Given the description of an element on the screen output the (x, y) to click on. 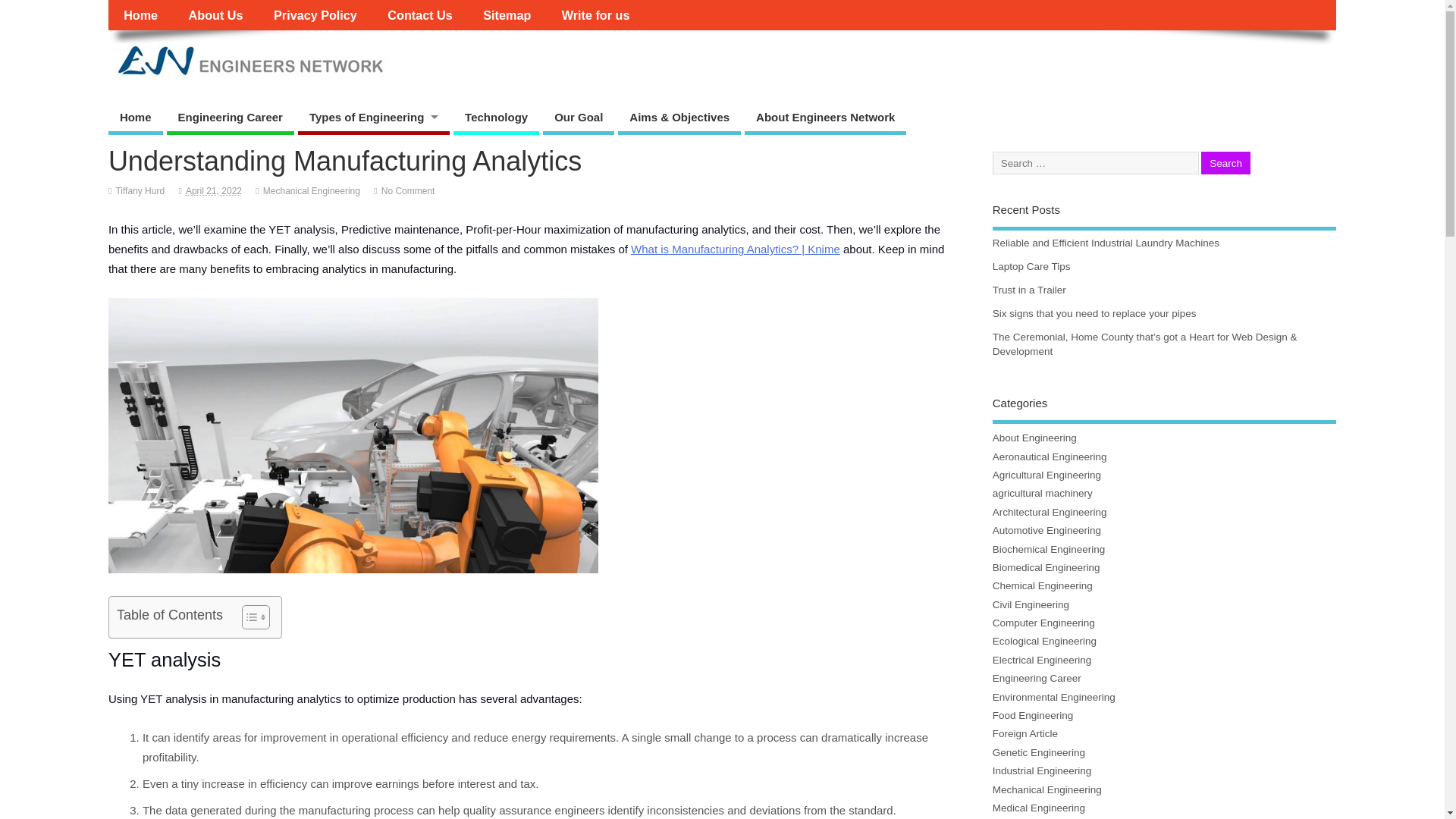
Our Goal (578, 119)
Contact Us (419, 15)
Engineering Career (230, 119)
Write for us (596, 15)
Technology (495, 119)
Sitemap (506, 15)
Privacy Policy (315, 15)
Types of Engineering (373, 119)
Tiffany Hurd (139, 190)
Home (140, 15)
Search (1225, 163)
Search (1225, 163)
About Engineers Network (824, 119)
About Us (215, 15)
Home (135, 119)
